Given the description of an element on the screen output the (x, y) to click on. 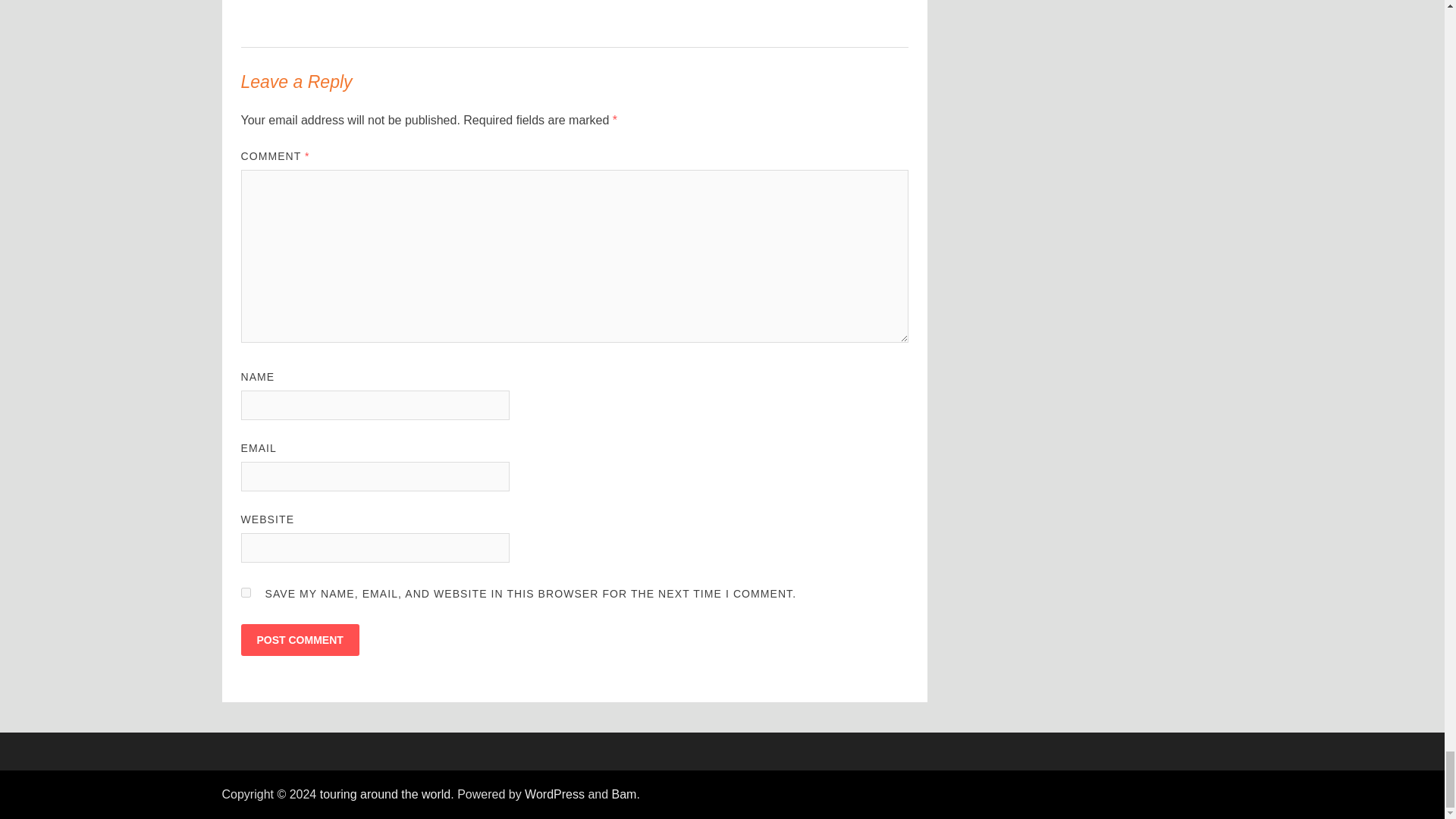
Post Comment (300, 640)
touring around the world (385, 793)
yes (245, 592)
